Given the description of an element on the screen output the (x, y) to click on. 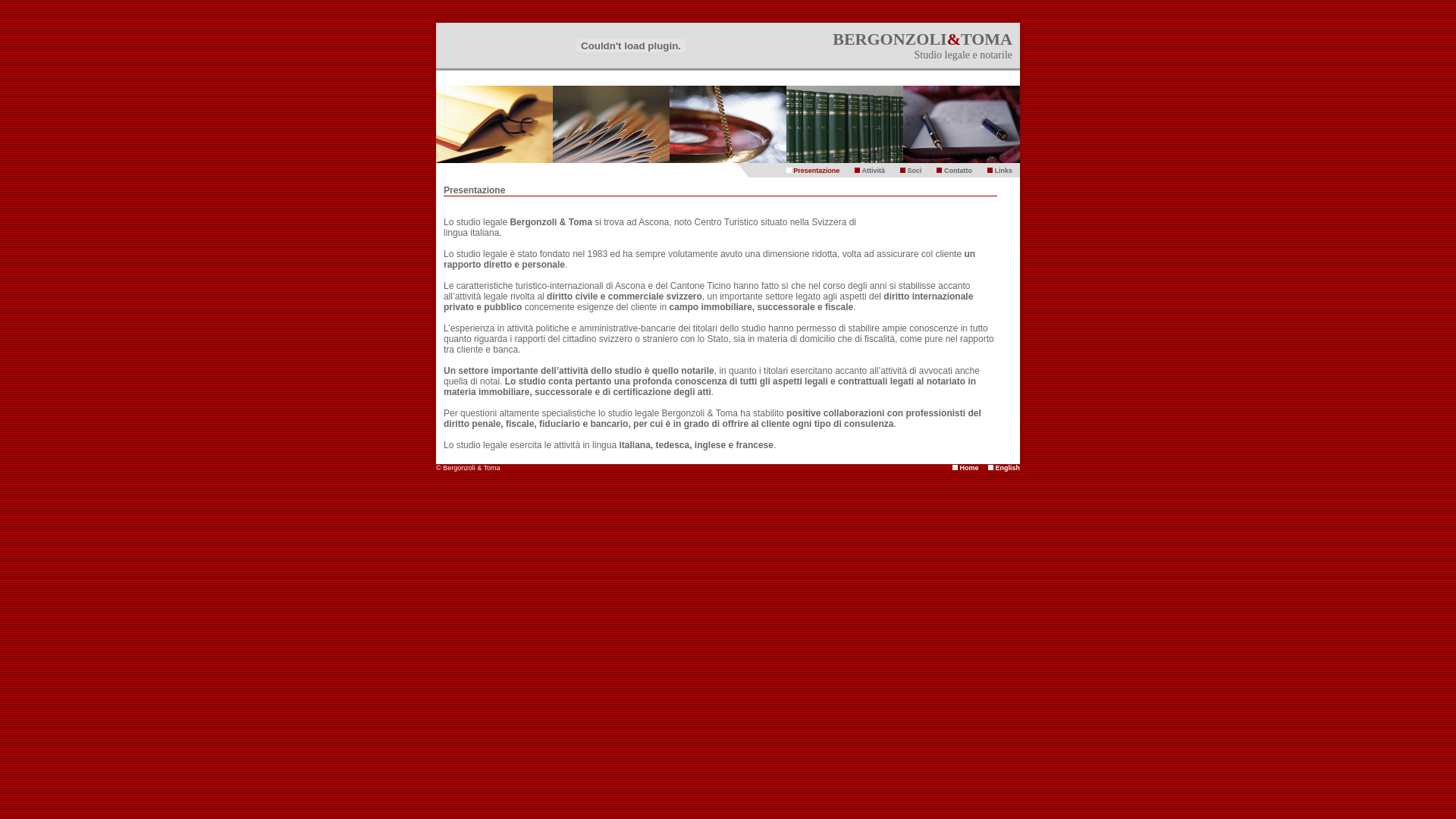
English Element type: text (1006, 467)
Soci Element type: text (913, 170)
Links Element type: text (1003, 170)
Presentazione Element type: text (815, 170)
Home Element type: text (968, 467)
Contatto Element type: text (958, 170)
